Given the description of an element on the screen output the (x, y) to click on. 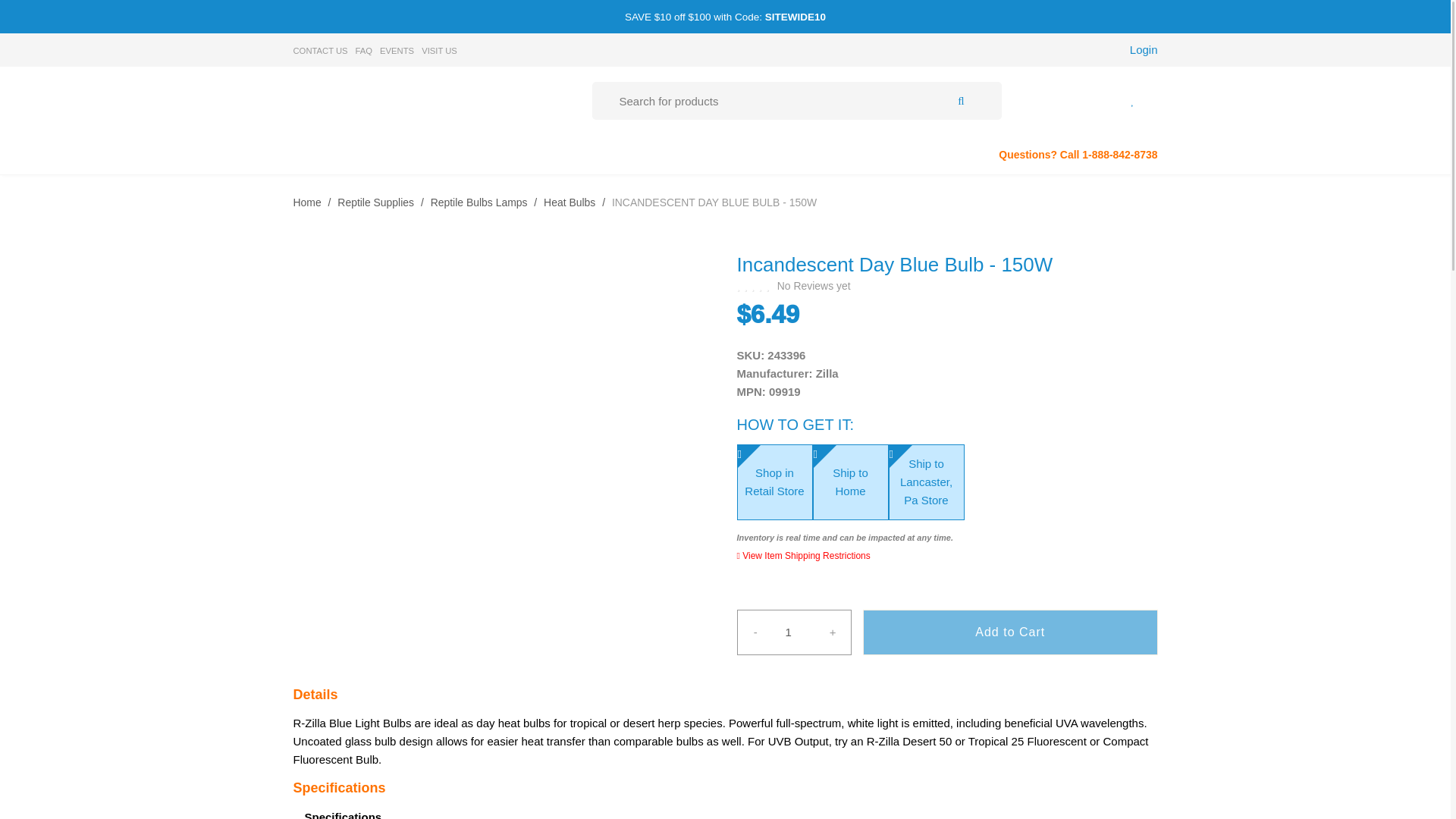
1 (793, 632)
